Given the description of an element on the screen output the (x, y) to click on. 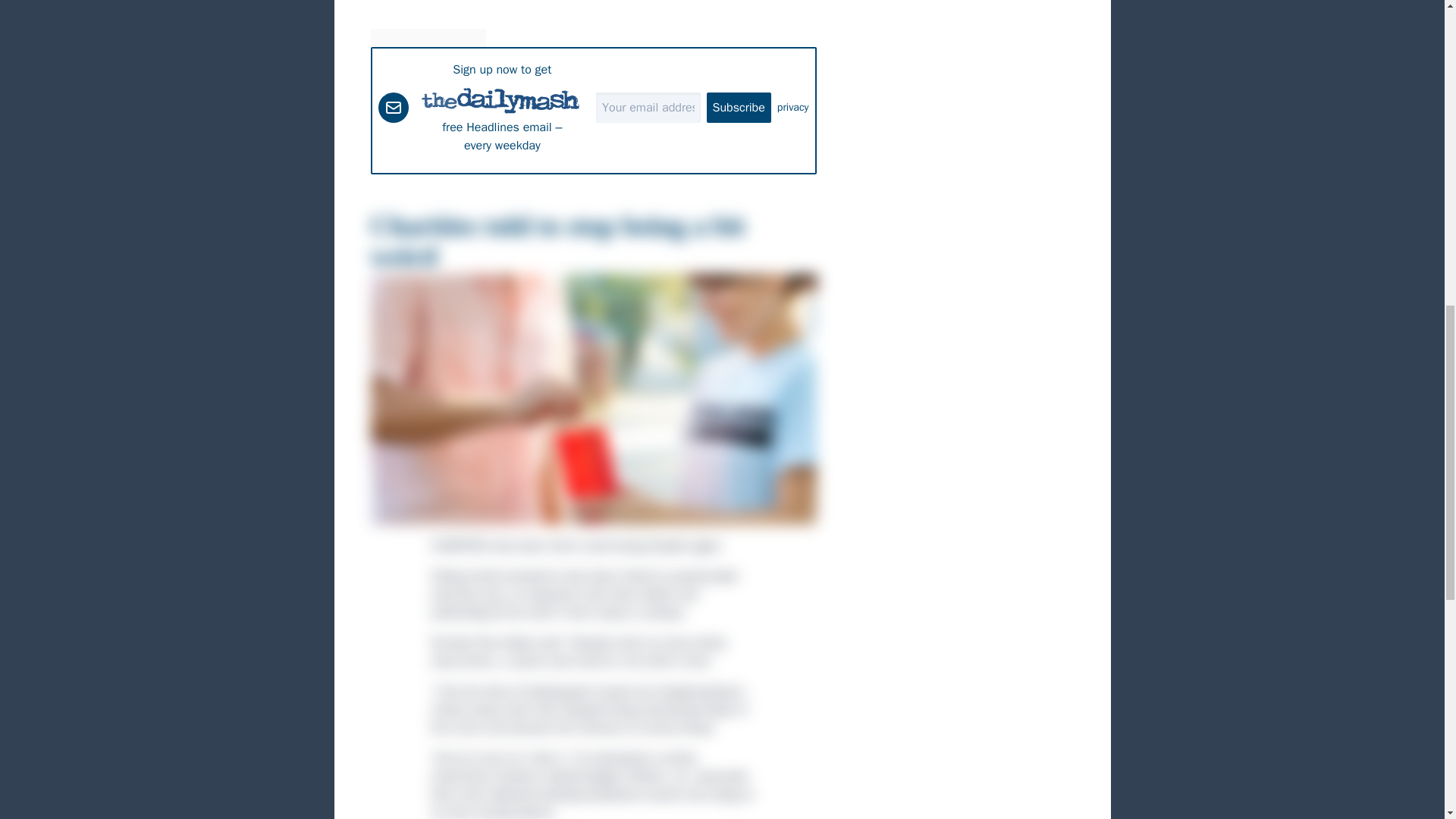
Subscribe (738, 107)
privacy (793, 107)
